Given the description of an element on the screen output the (x, y) to click on. 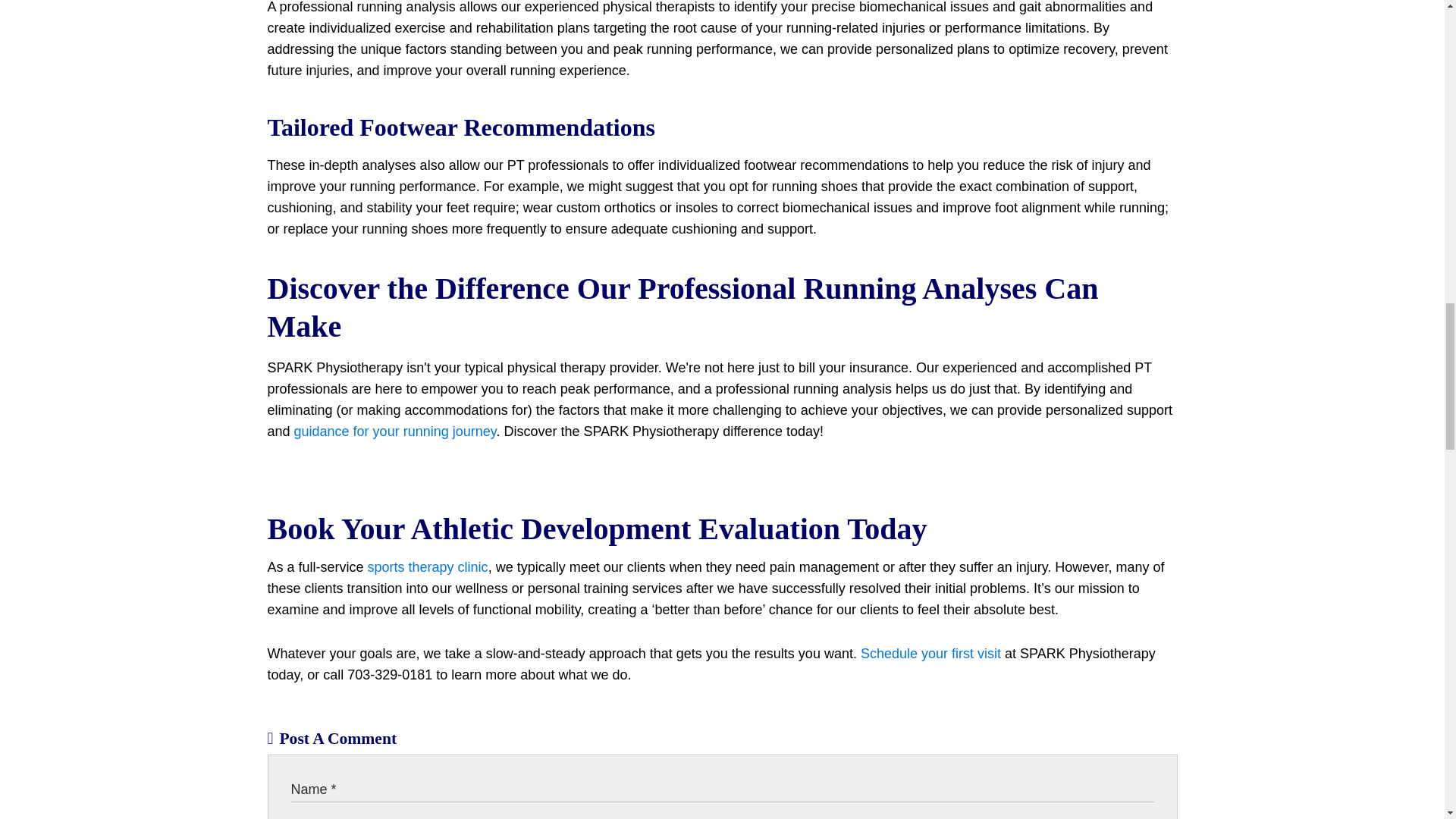
guidance for your running journey (395, 431)
